Given the description of an element on the screen output the (x, y) to click on. 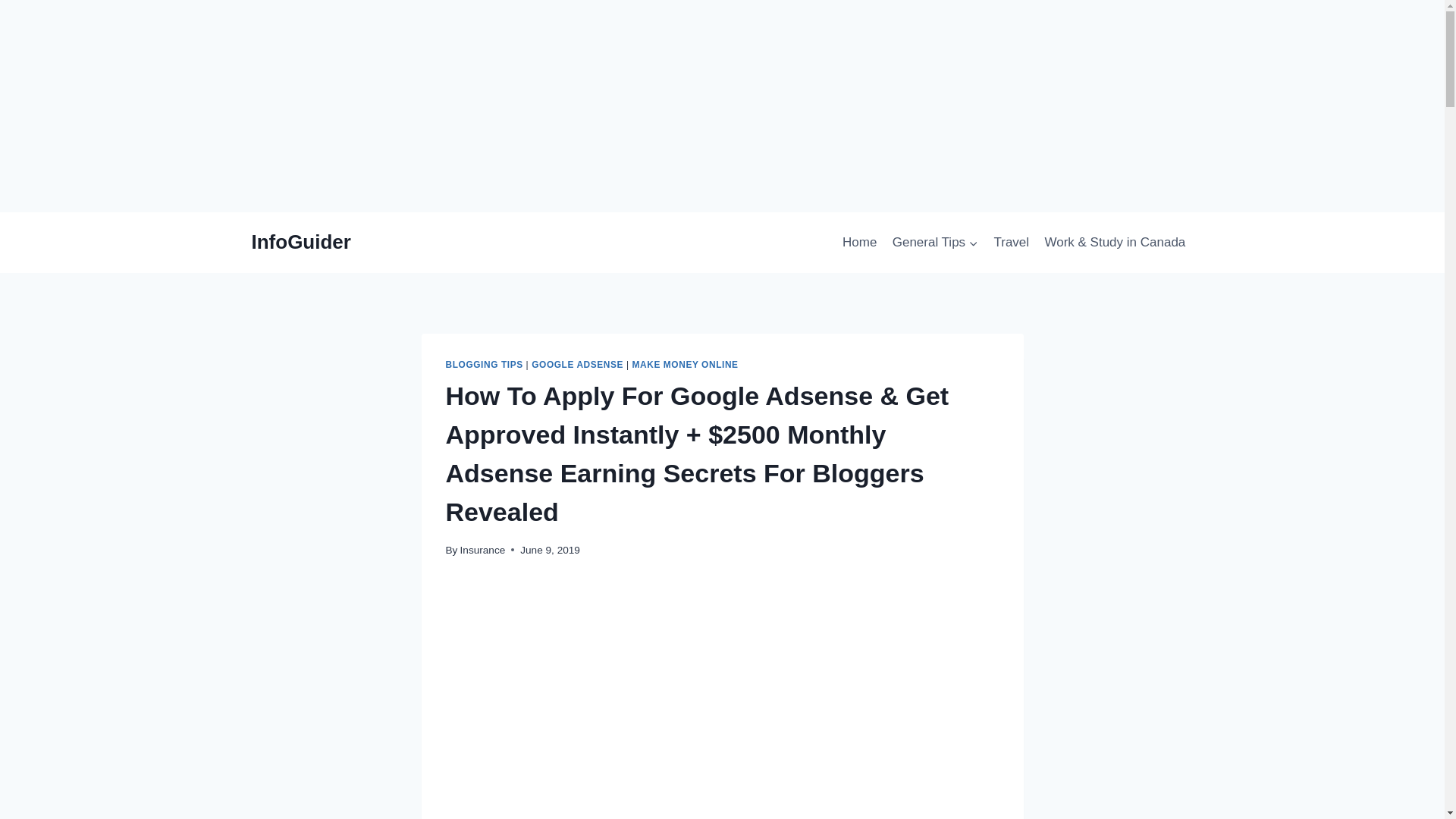
Advertisement (721, 688)
GOOGLE ADSENSE (577, 364)
Home (859, 242)
General Tips (936, 242)
InfoGuider (300, 241)
Travel (1010, 242)
BLOGGING TIPS (483, 364)
MAKE MONEY ONLINE (684, 364)
Insurance (482, 550)
